Given the description of an element on the screen output the (x, y) to click on. 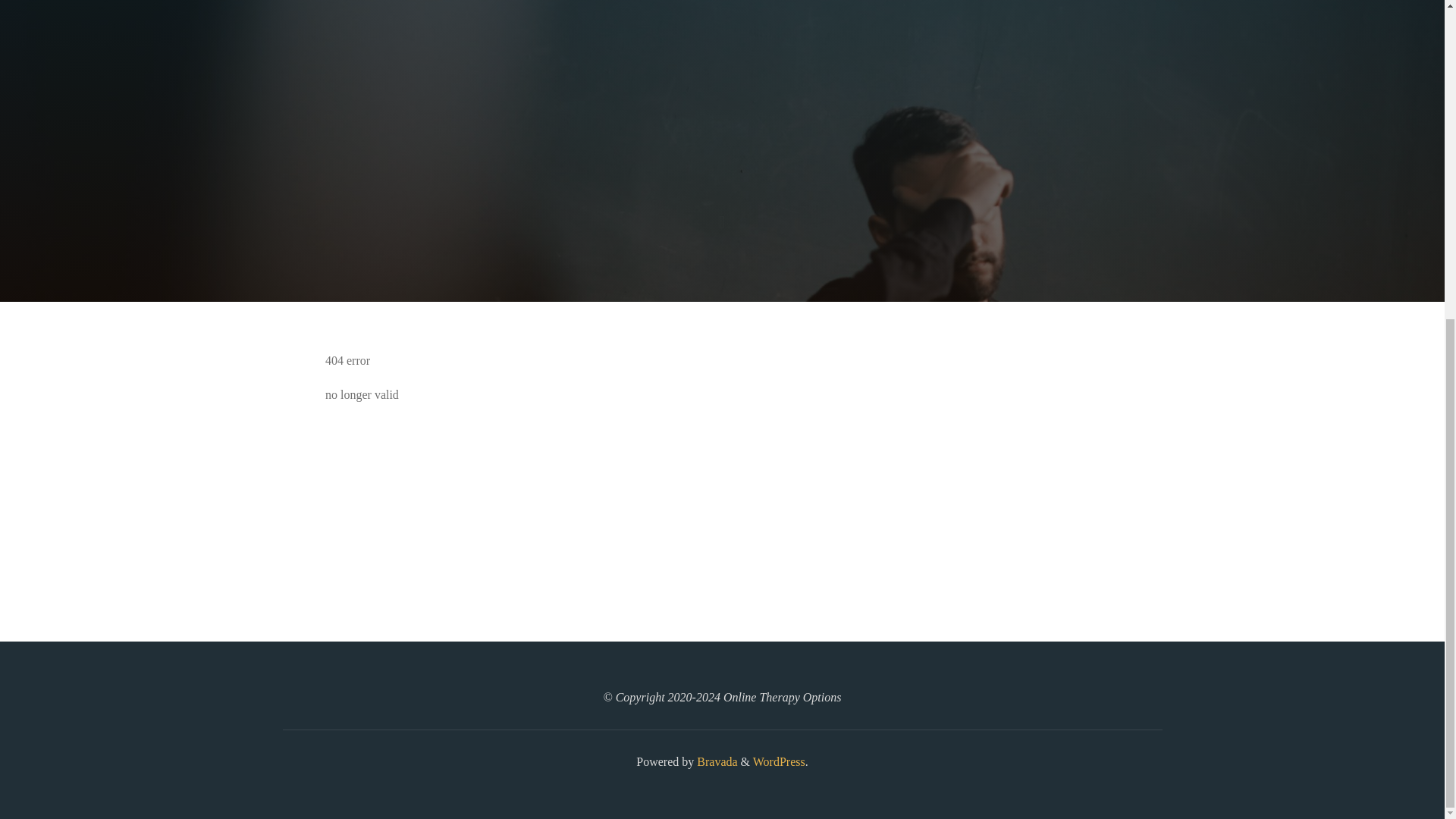
Read more (721, 207)
Semantic Personal Publishing Platform (778, 761)
Bravada (715, 761)
Bravada WordPress Theme by Cryout Creations (715, 761)
WordPress (778, 761)
